Given the description of an element on the screen output the (x, y) to click on. 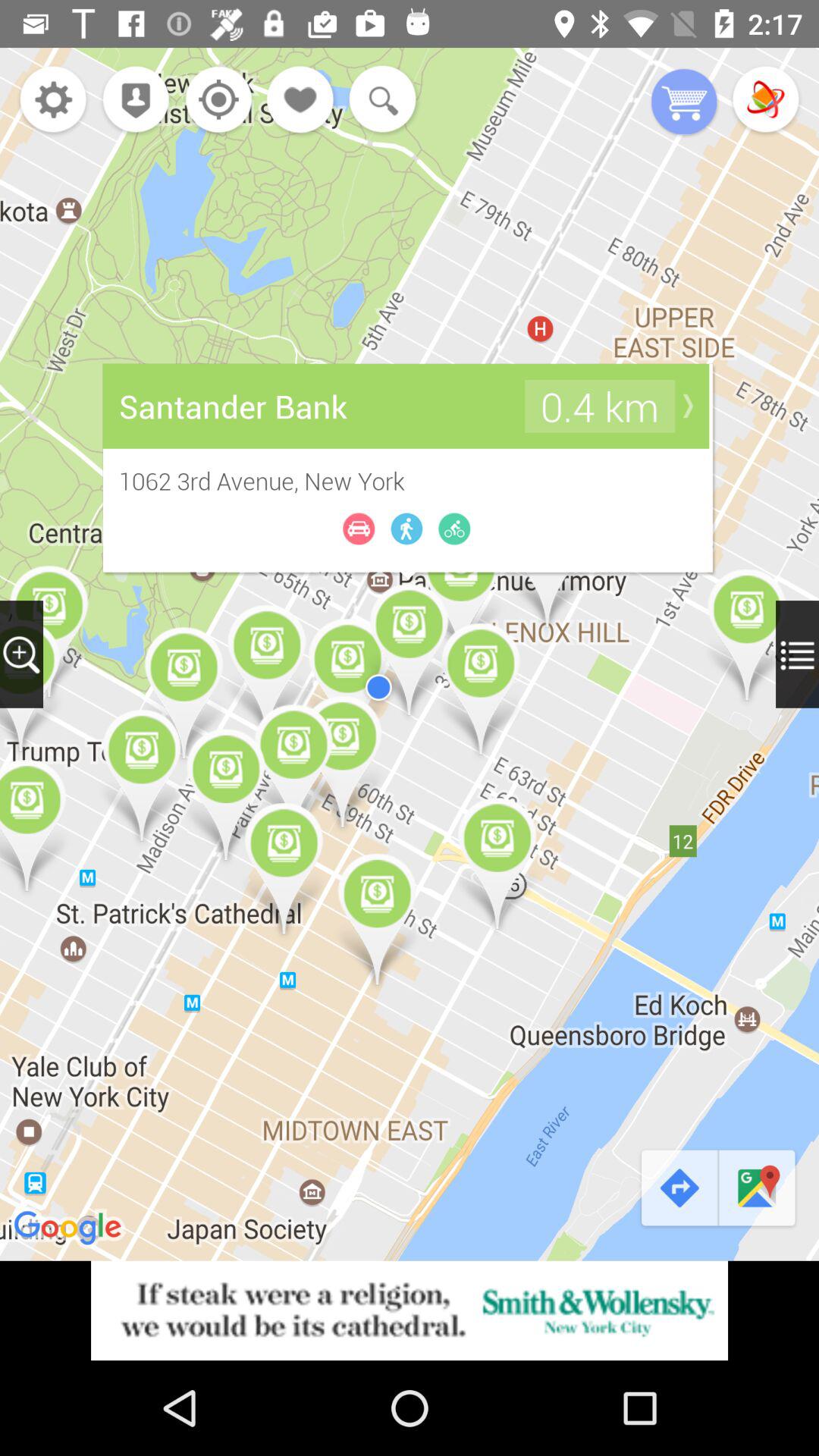
put in basket (684, 102)
